Given the description of an element on the screen output the (x, y) to click on. 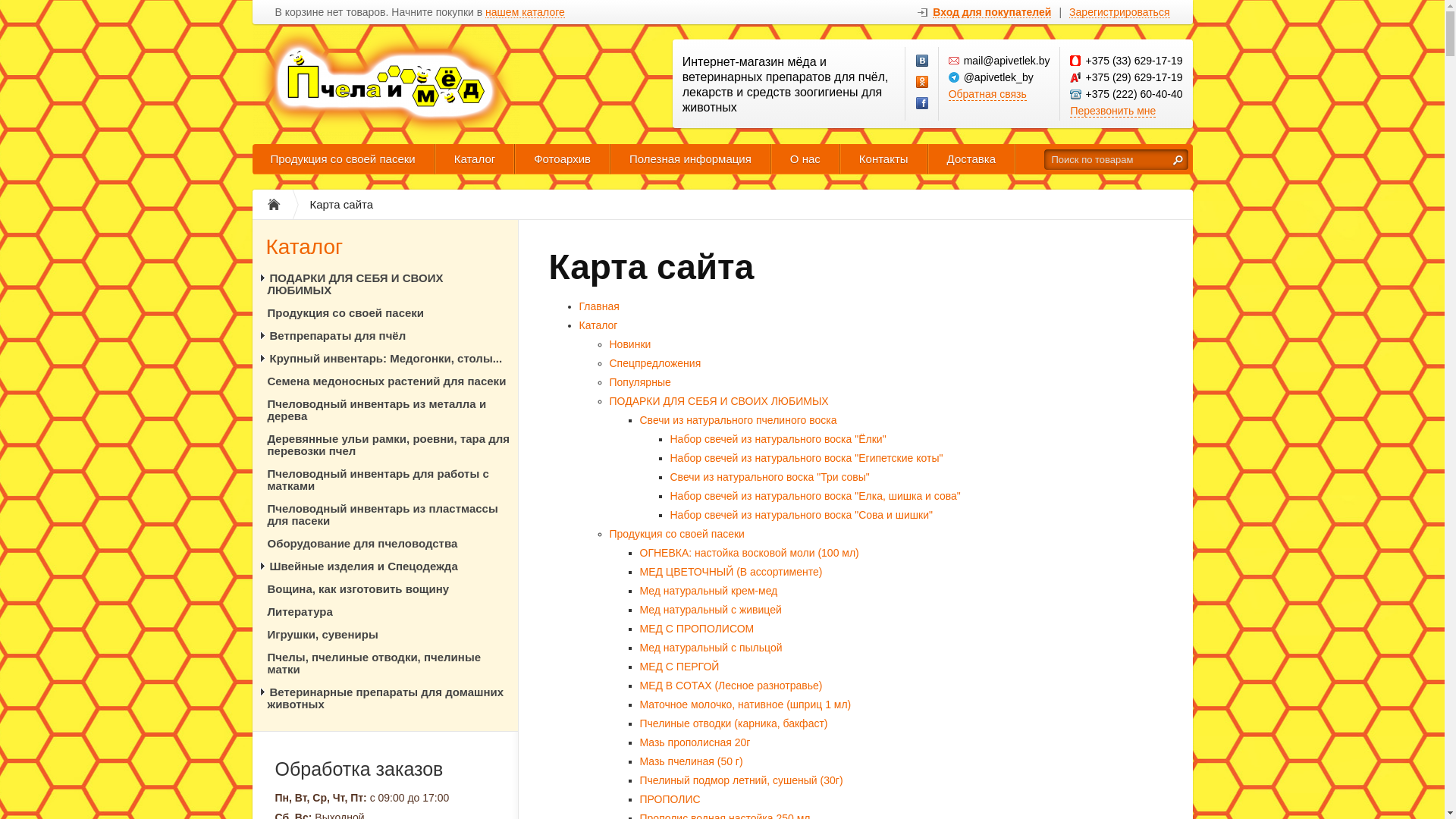
  Element type: text (1177, 159)
